Given the description of an element on the screen output the (x, y) to click on. 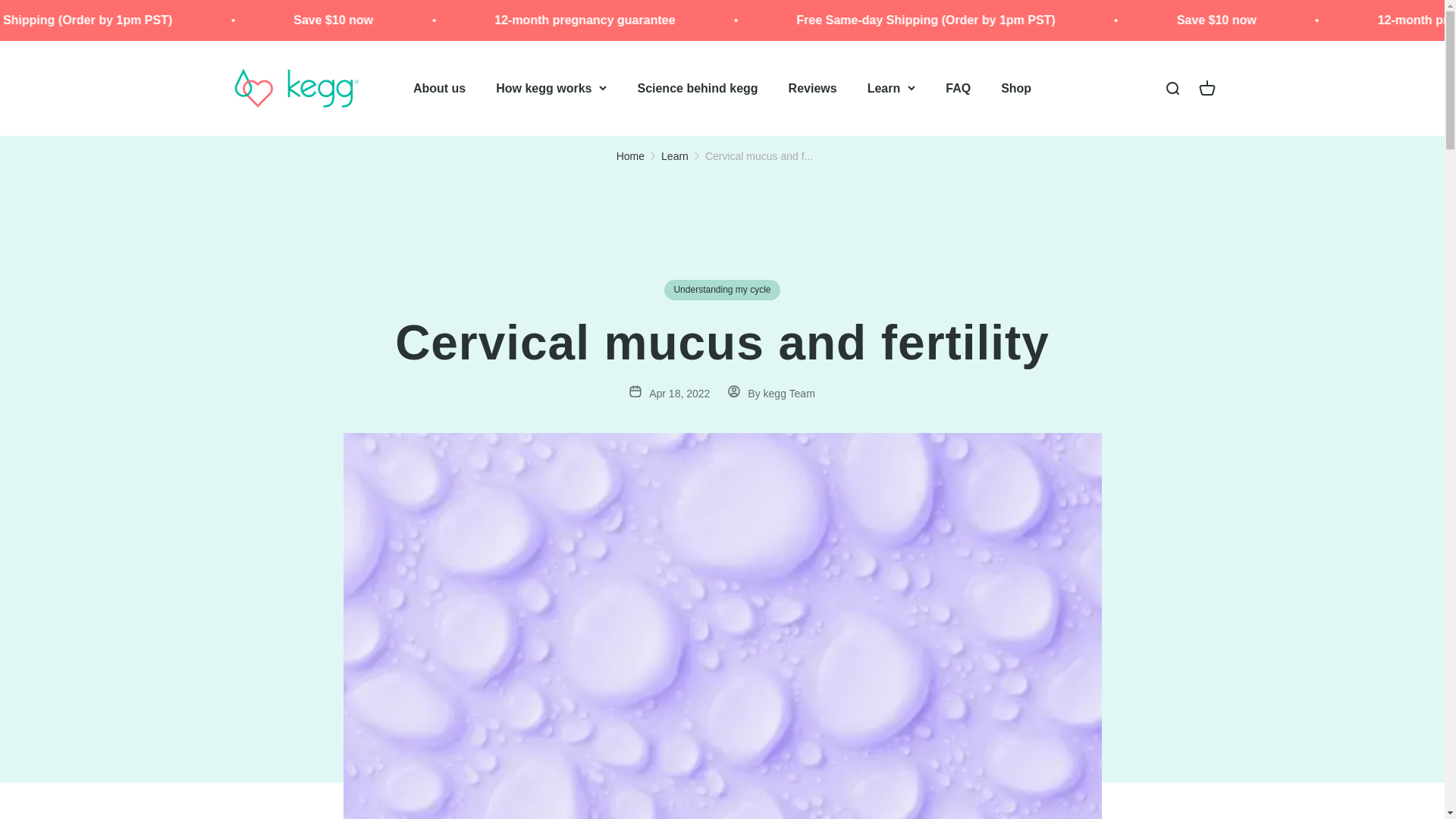
Home (630, 155)
About us (439, 88)
Science behind kegg (697, 88)
12-month pregnancy guarantee (784, 19)
Reviews (813, 88)
